Given the description of an element on the screen output the (x, y) to click on. 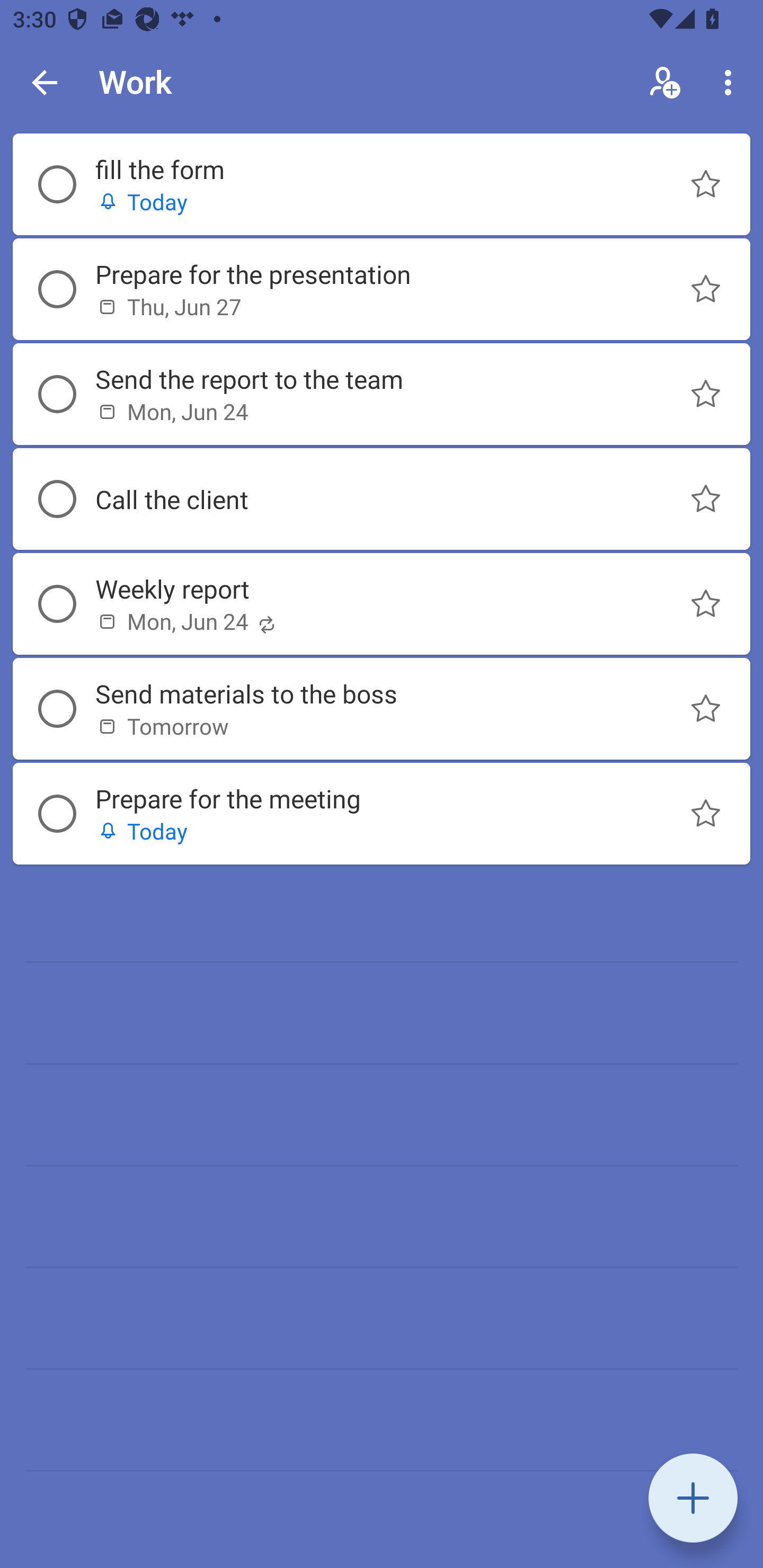
Normal task fill the form, Button (705, 183)
